Given the description of an element on the screen output the (x, y) to click on. 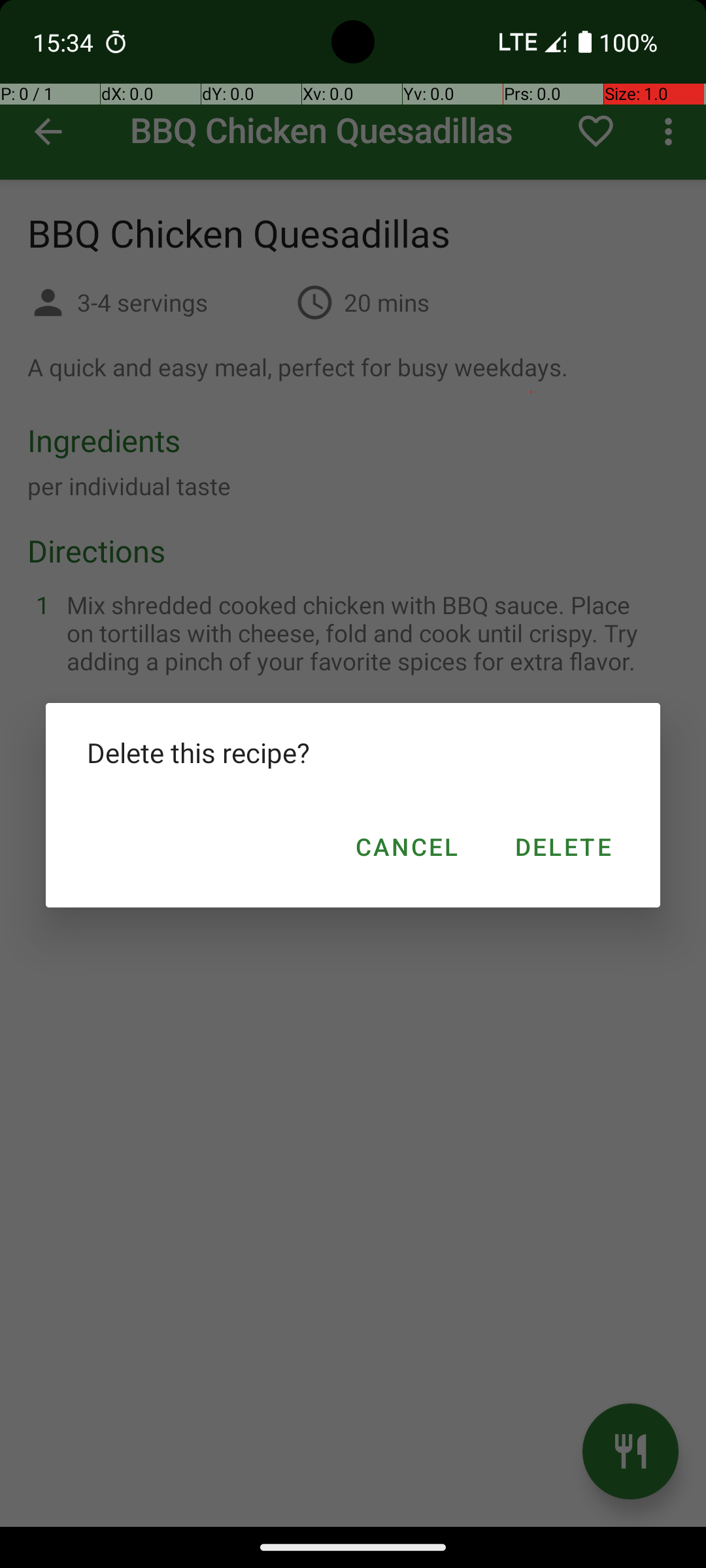
Delete this recipe? Element type: android.widget.TextView (352, 751)
DELETE Element type: android.widget.Button (562, 846)
